Given the description of an element on the screen output the (x, y) to click on. 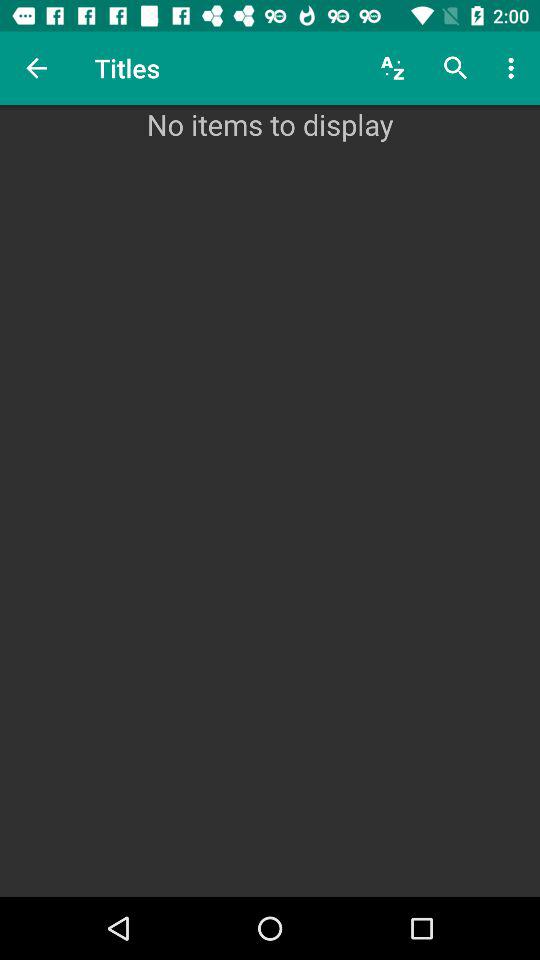
click the icon to the left of titles item (36, 68)
